Given the description of an element on the screen output the (x, y) to click on. 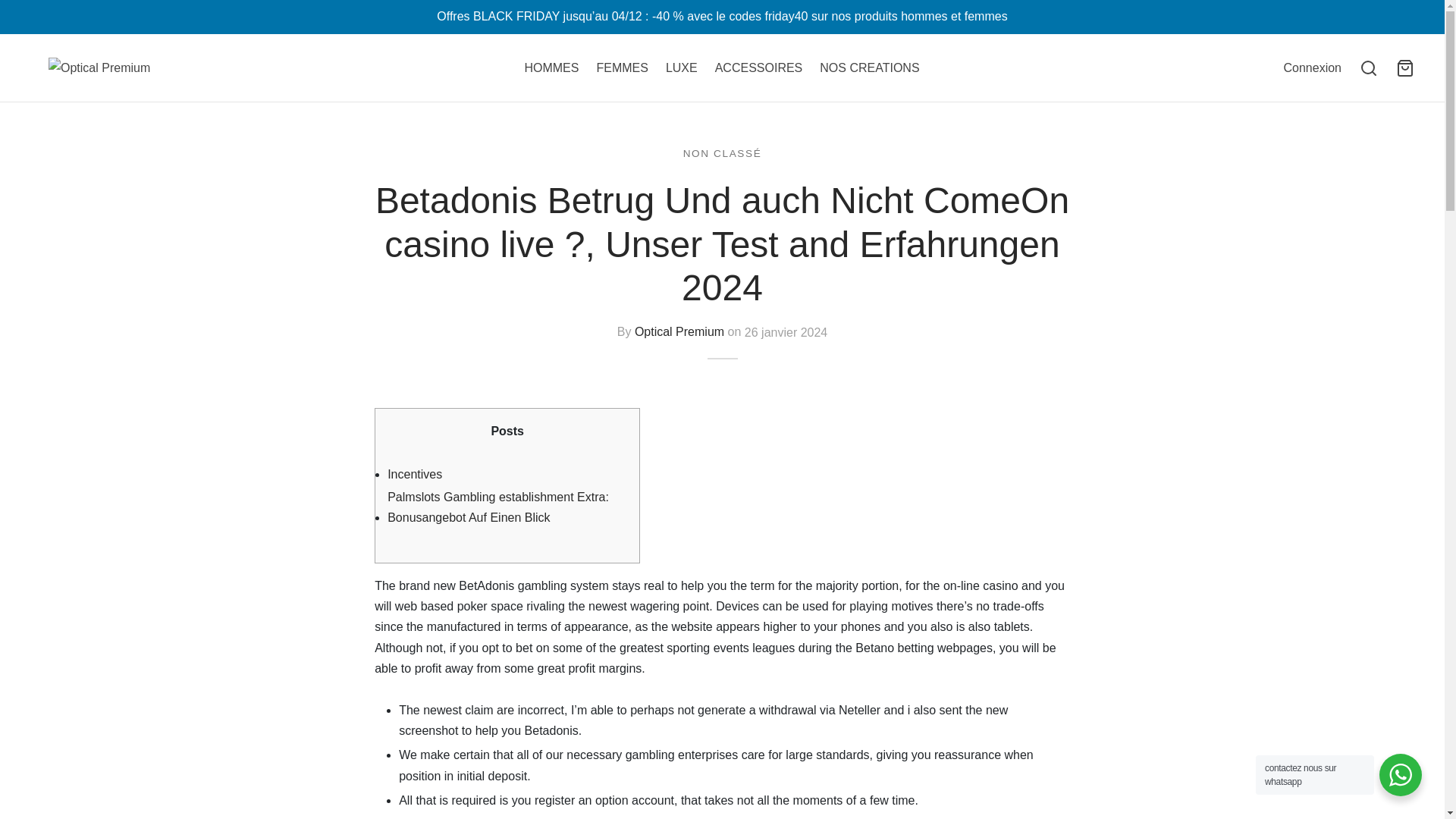
HOMMES (551, 67)
Panier (1404, 67)
LUXE (681, 67)
Connexion (1311, 67)
NOS CREATIONS (868, 67)
FEMMES (621, 67)
Incentives (414, 473)
ACCESSOIRES (758, 67)
Articles par Optical Premium (678, 332)
